Given the description of an element on the screen output the (x, y) to click on. 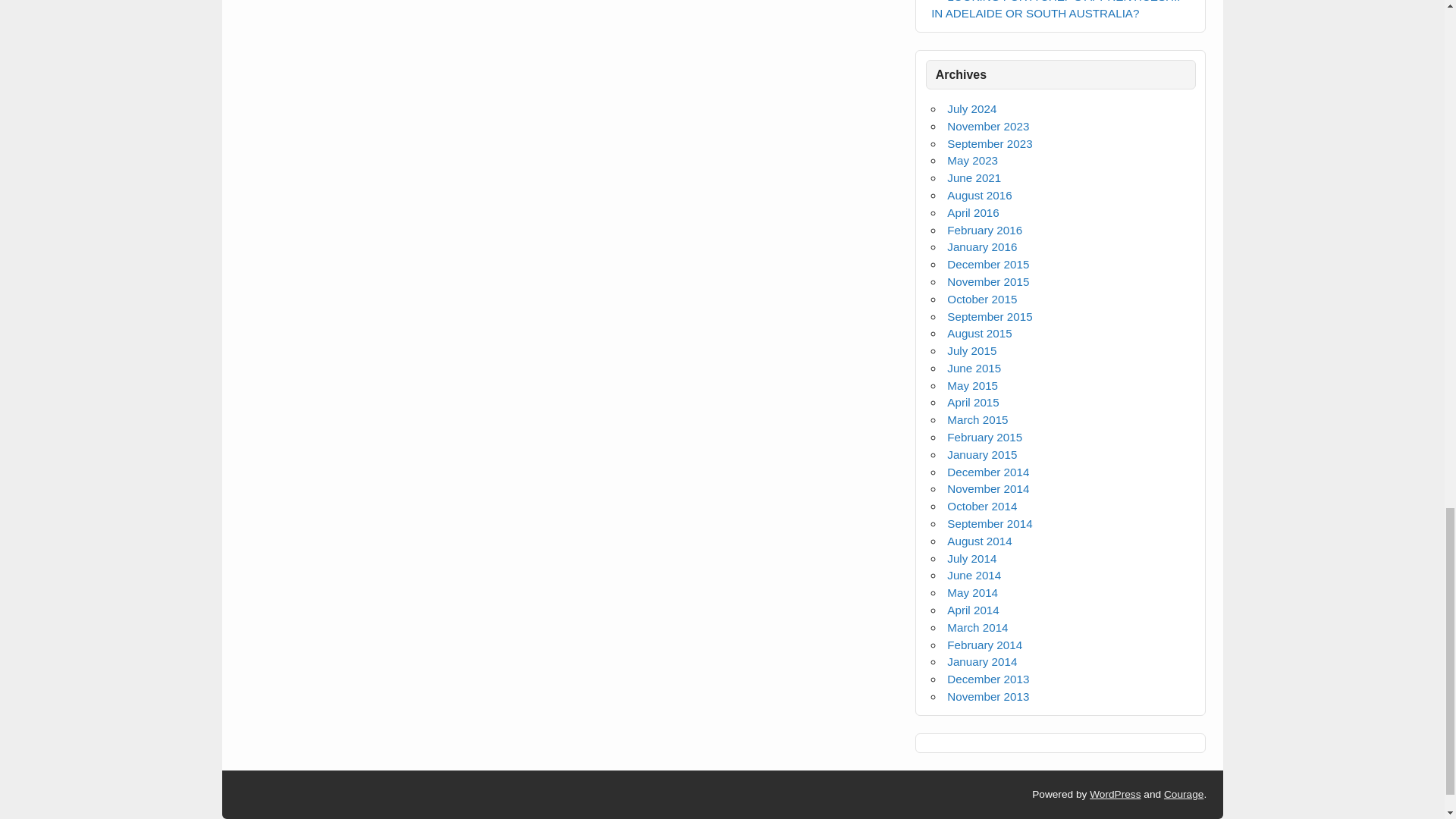
February 2016 (984, 229)
June 2021 (974, 177)
February 2015 (984, 436)
September 2023 (989, 143)
Courage WordPress Theme (1183, 794)
September 2015 (989, 316)
June 2015 (974, 367)
May 2015 (972, 385)
July 2015 (971, 350)
March 2015 (977, 419)
October 2015 (981, 298)
April 2015 (972, 401)
December 2015 (988, 264)
May 2023 (972, 160)
November 2023 (988, 125)
